Given the description of an element on the screen output the (x, y) to click on. 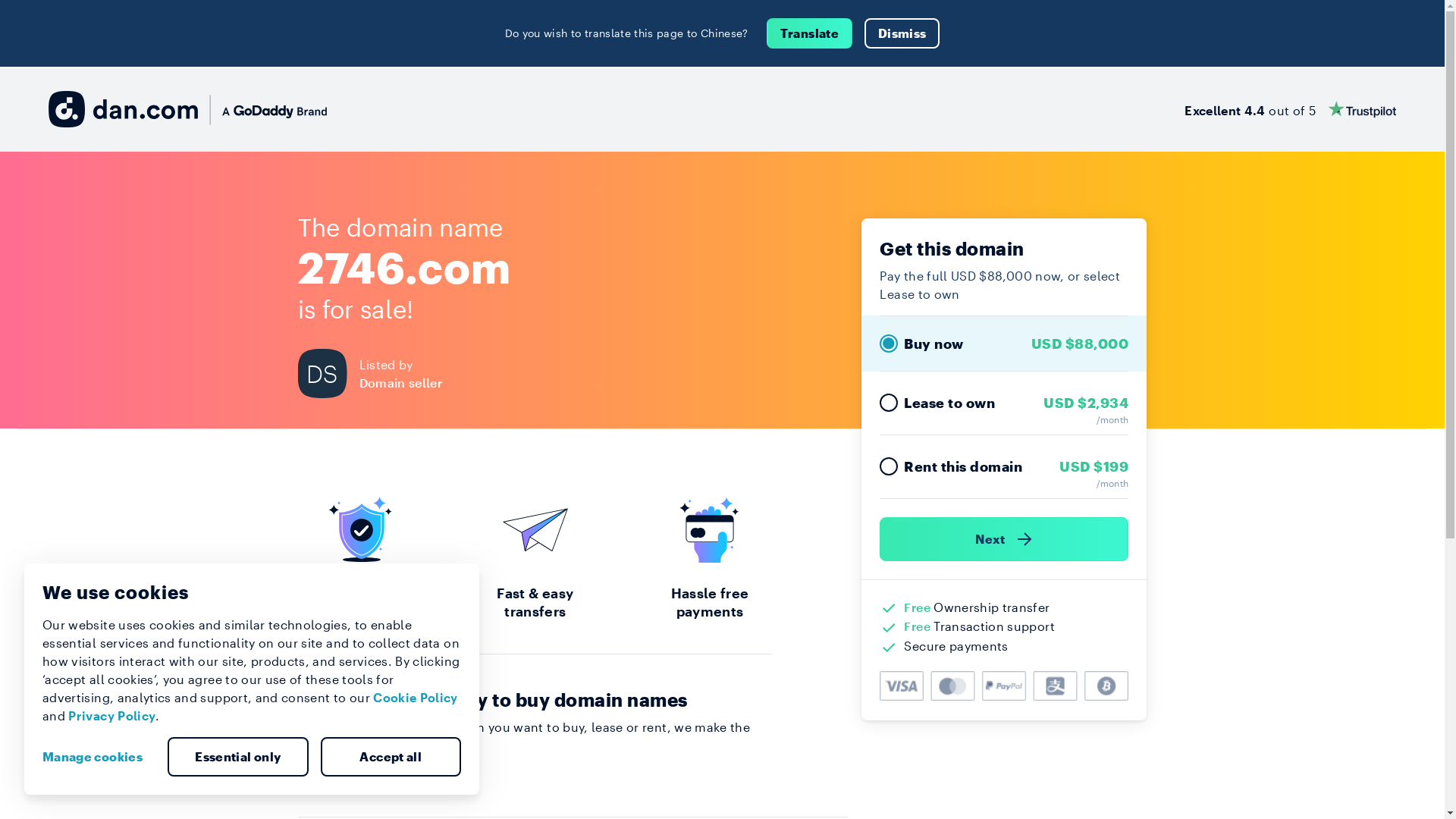
Essential only Element type: text (237, 756)
Dismiss Element type: text (901, 33)
Privacy Policy Element type: text (111, 715)
Manage cookies Element type: text (98, 756)
Cookie Policy Element type: text (415, 697)
Accept all Element type: text (390, 756)
Translate Element type: text (809, 33)
Excellent 4.4 out of 5 Element type: text (1290, 109)
Next
) Element type: text (1003, 539)
